Given the description of an element on the screen output the (x, y) to click on. 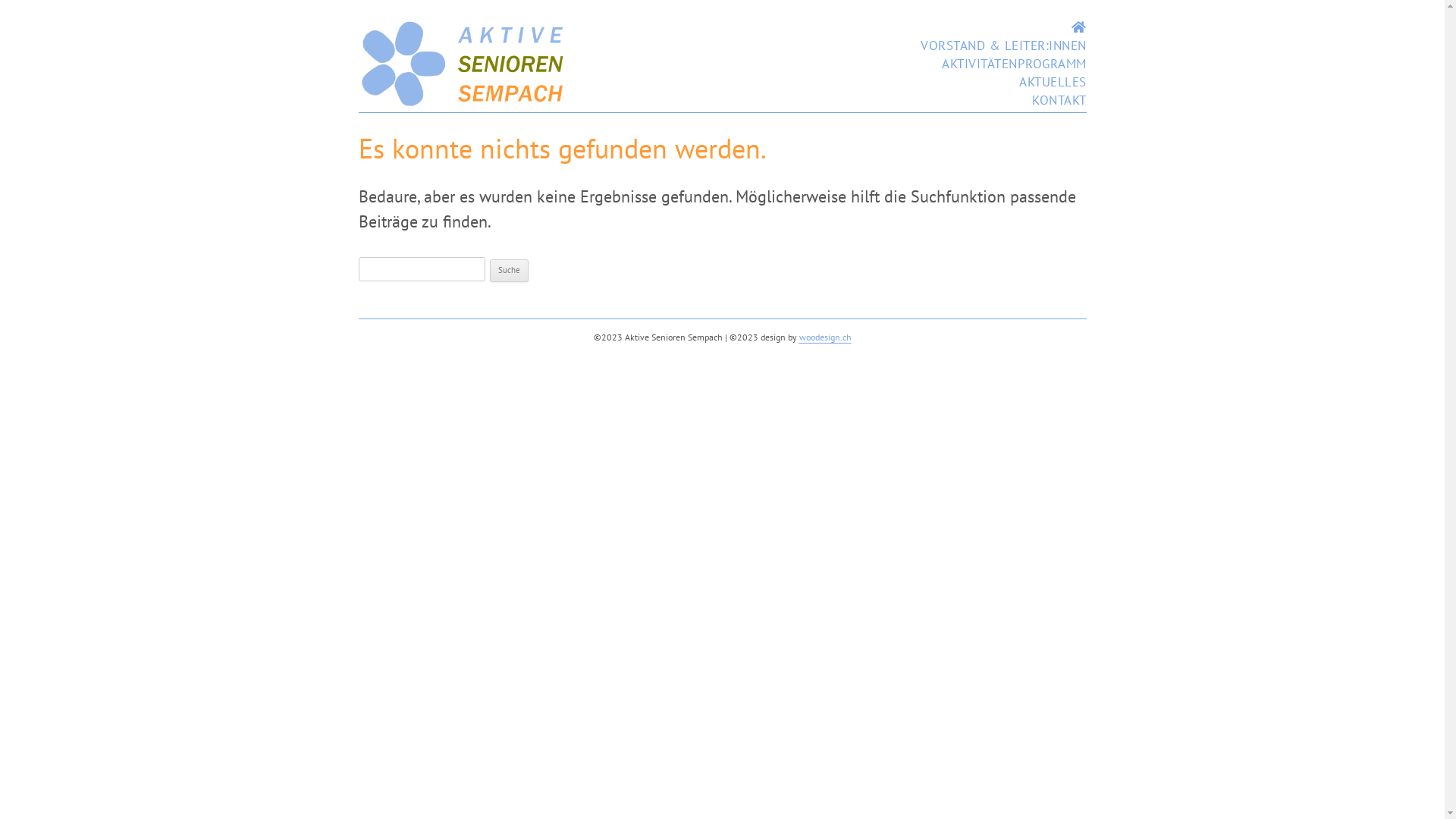
VORSTAND & LEITER:INNEN Element type: text (1003, 45)
Suche Element type: text (508, 270)
KONTAKT Element type: text (1059, 100)
AKTUELLES Element type: text (1052, 81)
woodesign.ch Element type: text (825, 336)
Aktive Senioren Sempach Element type: hover (463, 103)
Zum Inhalt springen Element type: text (1003, 18)
